Given the description of an element on the screen output the (x, y) to click on. 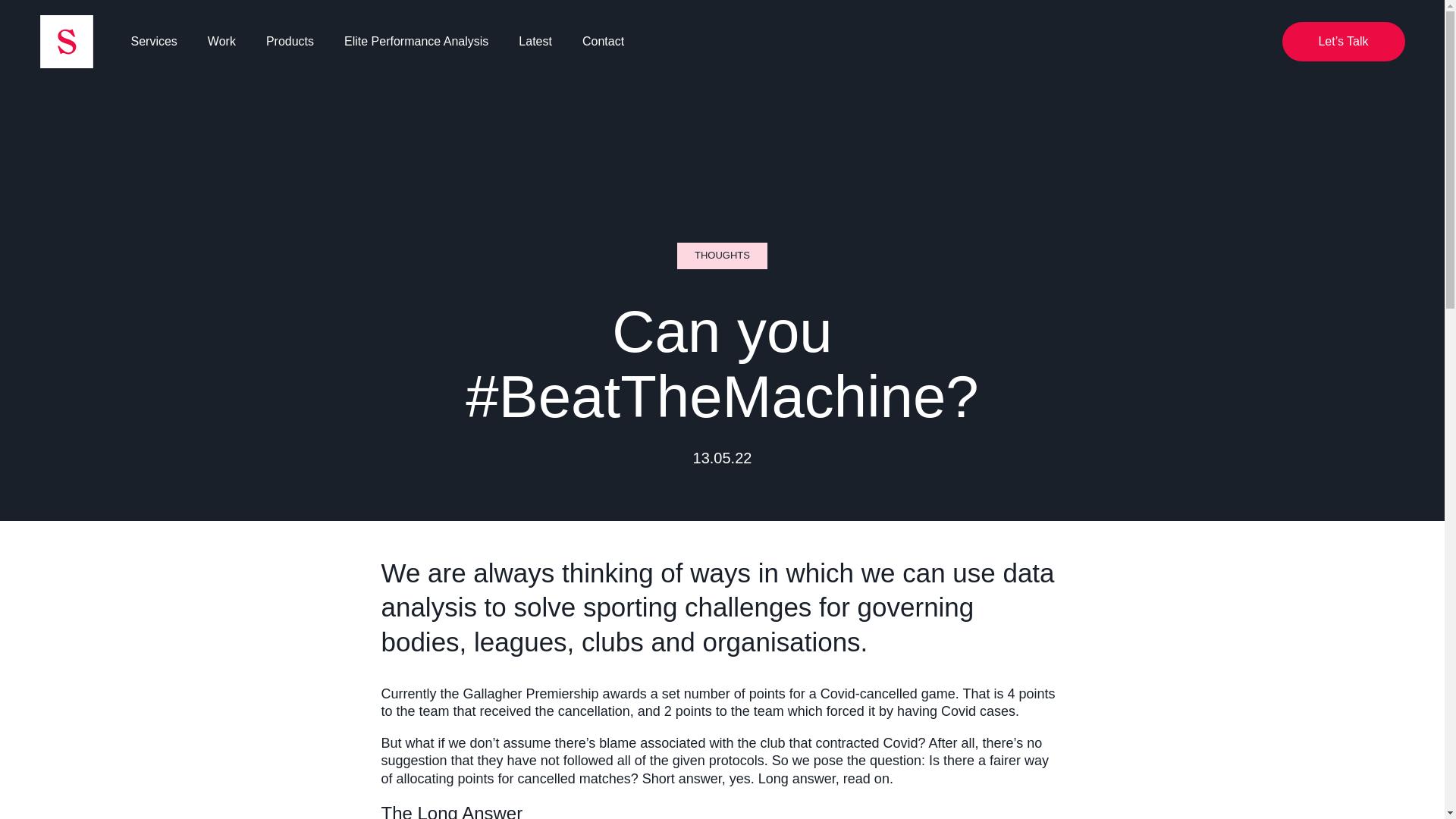
Contact (603, 41)
Services (153, 41)
Home (66, 41)
Elite Performance Analysis (415, 41)
Work (221, 41)
Products (290, 41)
Latest (534, 41)
